Given the description of an element on the screen output the (x, y) to click on. 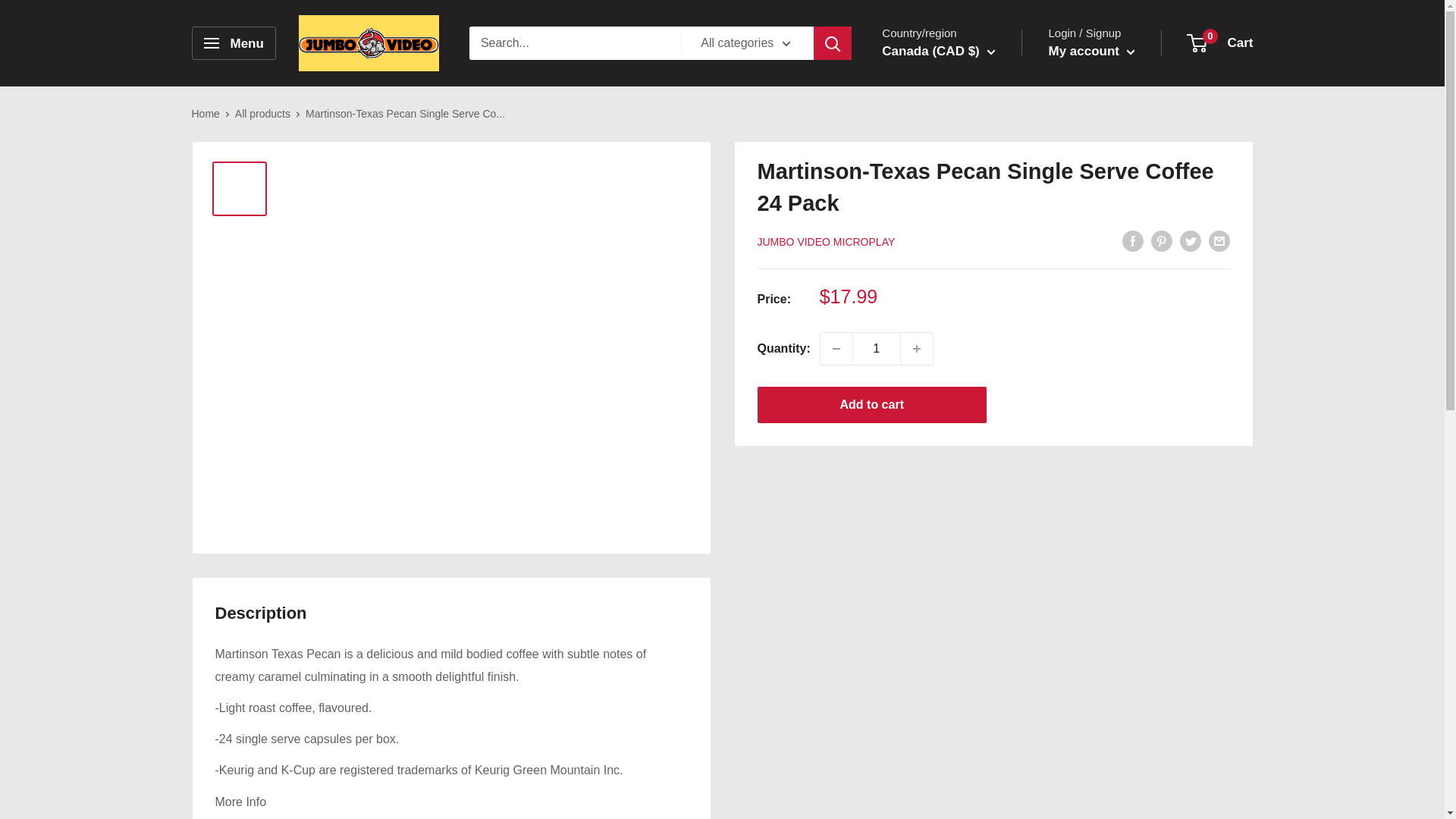
Increase quantity by 1 (917, 348)
1 (876, 348)
Decrease quantity by 1 (836, 348)
